Given the description of an element on the screen output the (x, y) to click on. 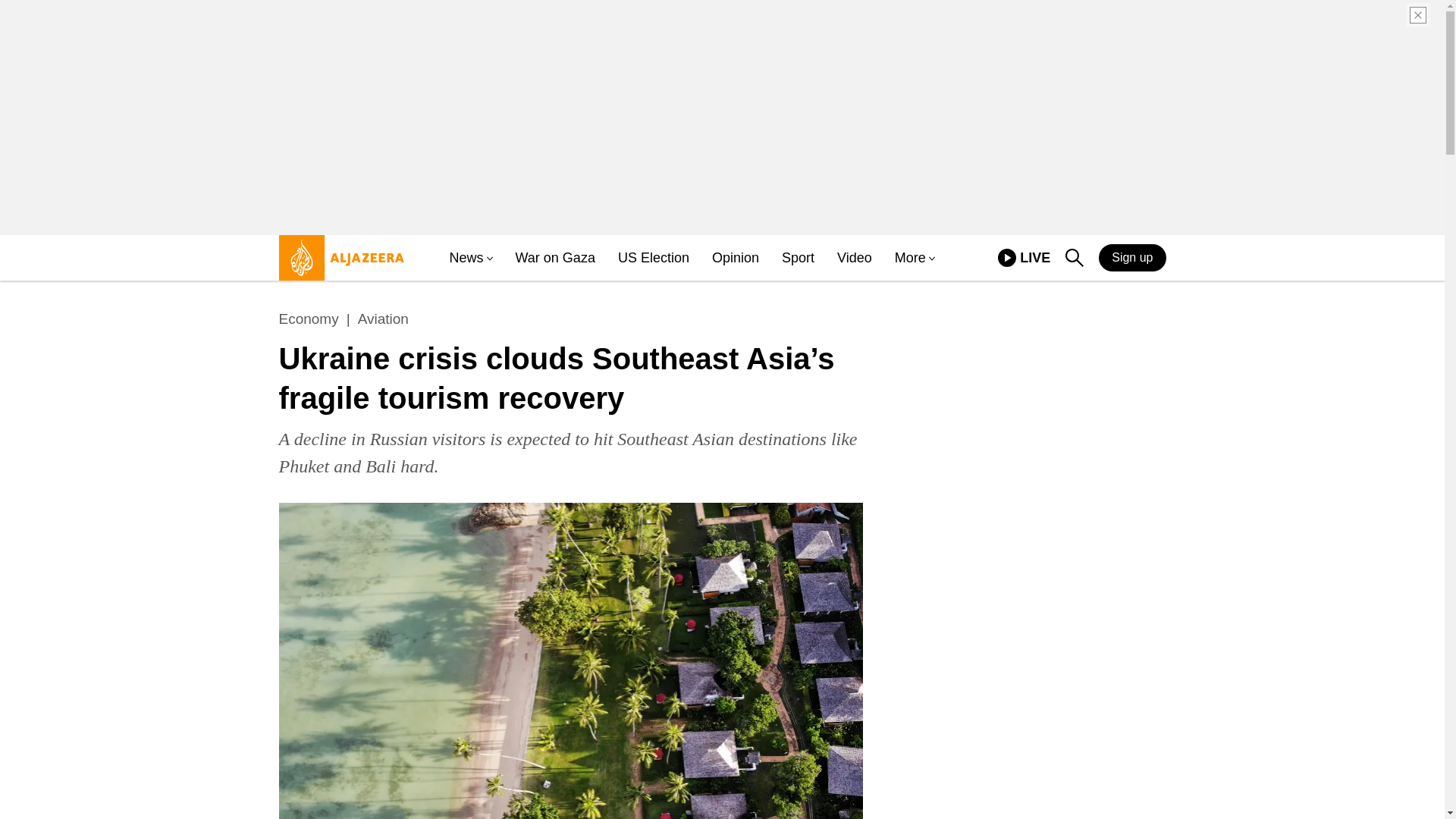
More (910, 257)
News (1023, 257)
search (465, 257)
Sport (1074, 257)
Opinion (797, 257)
Sign up (734, 257)
play (1132, 257)
War on Gaza (1006, 257)
US Election (555, 257)
Economy (652, 257)
Skip to Content (309, 319)
Video (337, 264)
Aviation (854, 257)
